Given the description of an element on the screen output the (x, y) to click on. 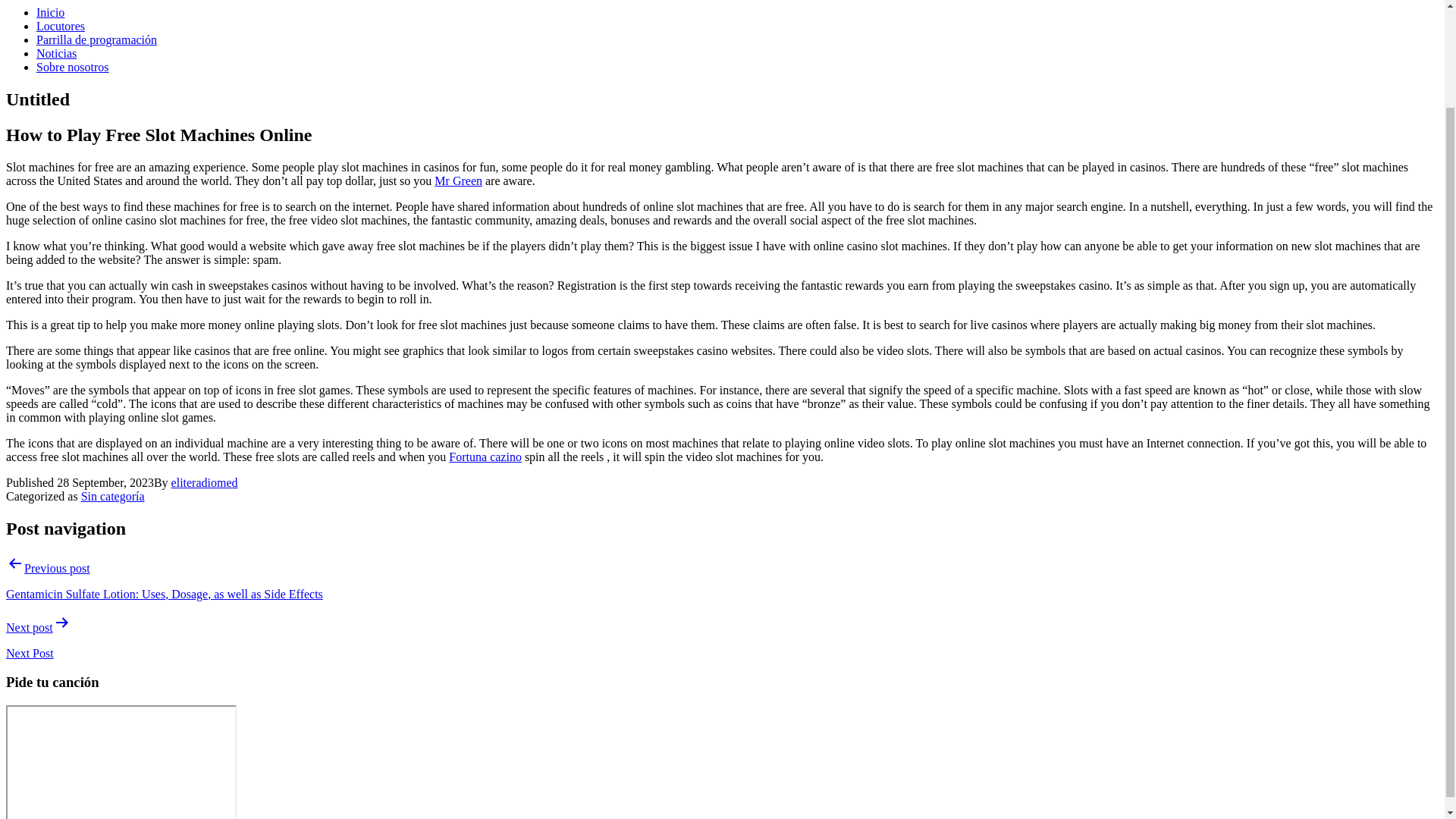
Inicio (50, 11)
Fortuna cazino (484, 456)
eliteradiomed (204, 481)
Locutores (60, 25)
Mr Green (457, 180)
Sobre nosotros (72, 66)
Noticias (56, 52)
